Given the description of an element on the screen output the (x, y) to click on. 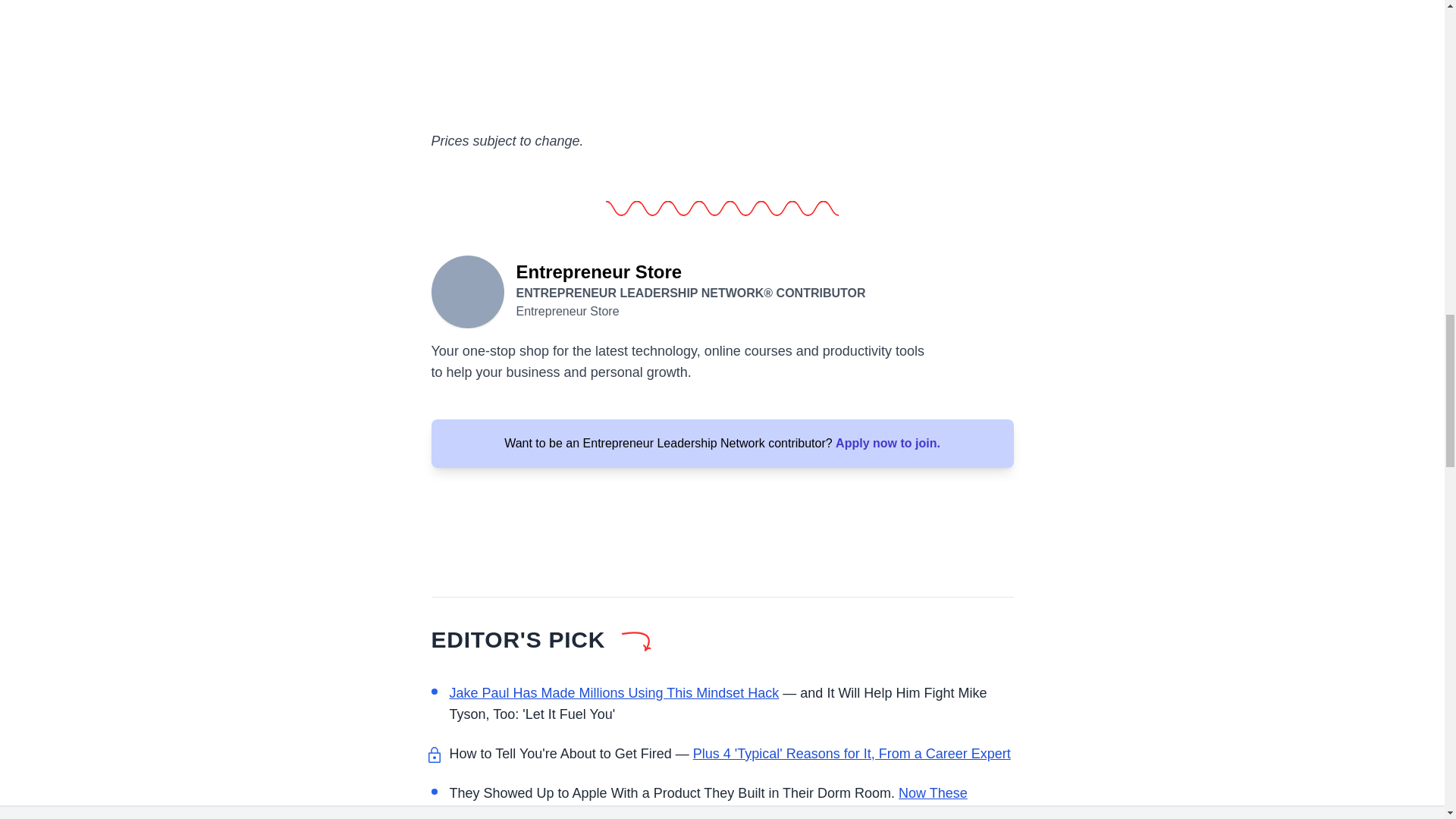
Entrepreneur Store (466, 290)
